Given the description of an element on the screen output the (x, y) to click on. 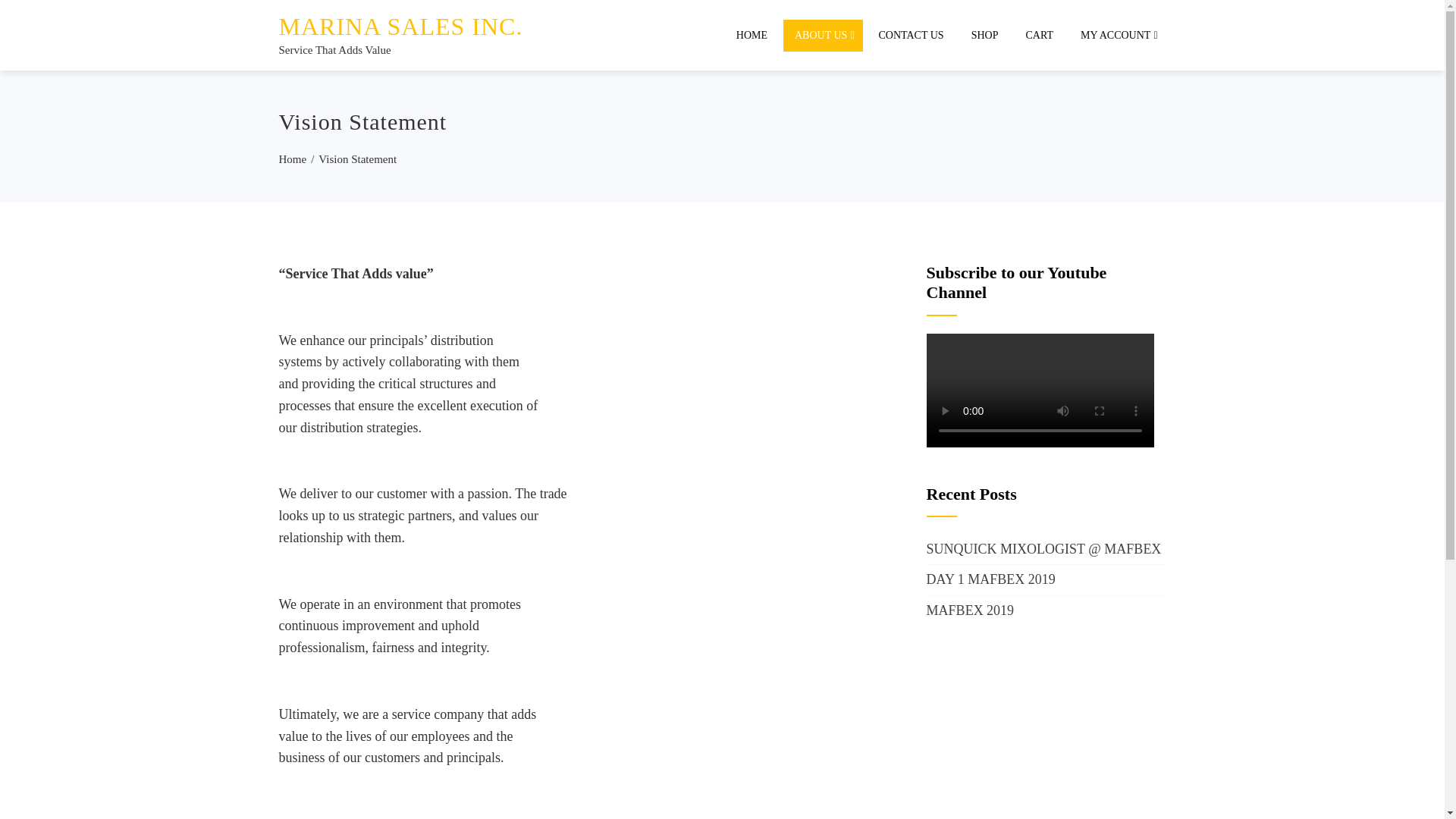
MARINA SALES INC. (400, 26)
SHOP (984, 35)
CONTACT US (911, 35)
Service That Adds Value (335, 50)
DAY 1 MAFBEX 2019 (990, 579)
MY ACCOUNT (1117, 35)
CART (1038, 35)
ABOUT US (823, 35)
HOME (751, 35)
Home (293, 159)
MAFBEX 2019 (970, 610)
